Given the description of an element on the screen output the (x, y) to click on. 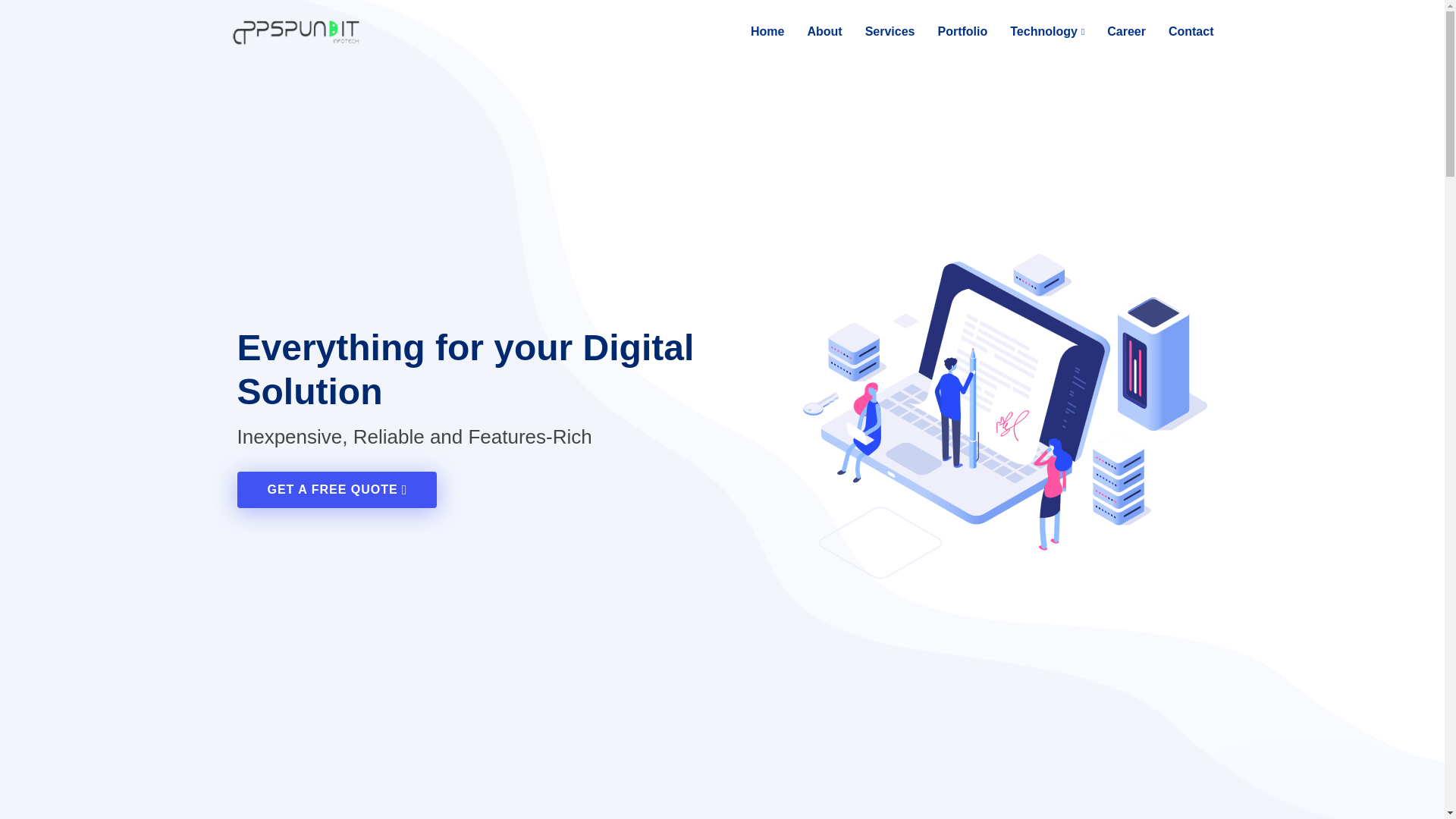
Services (879, 31)
Technology (1035, 31)
About (812, 31)
Portfolio (950, 31)
Career (1114, 31)
GET A FREE QUOTE (335, 489)
Home (756, 31)
Contact (1179, 31)
GET A FREE QUOTE (335, 489)
